Given the description of an element on the screen output the (x, y) to click on. 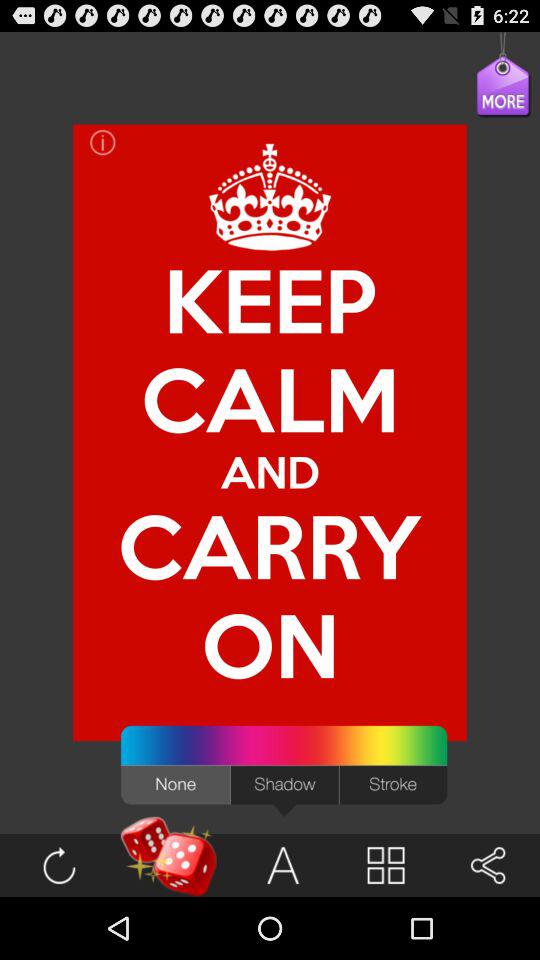
turn off the item below calm icon (269, 545)
